Given the description of an element on the screen output the (x, y) to click on. 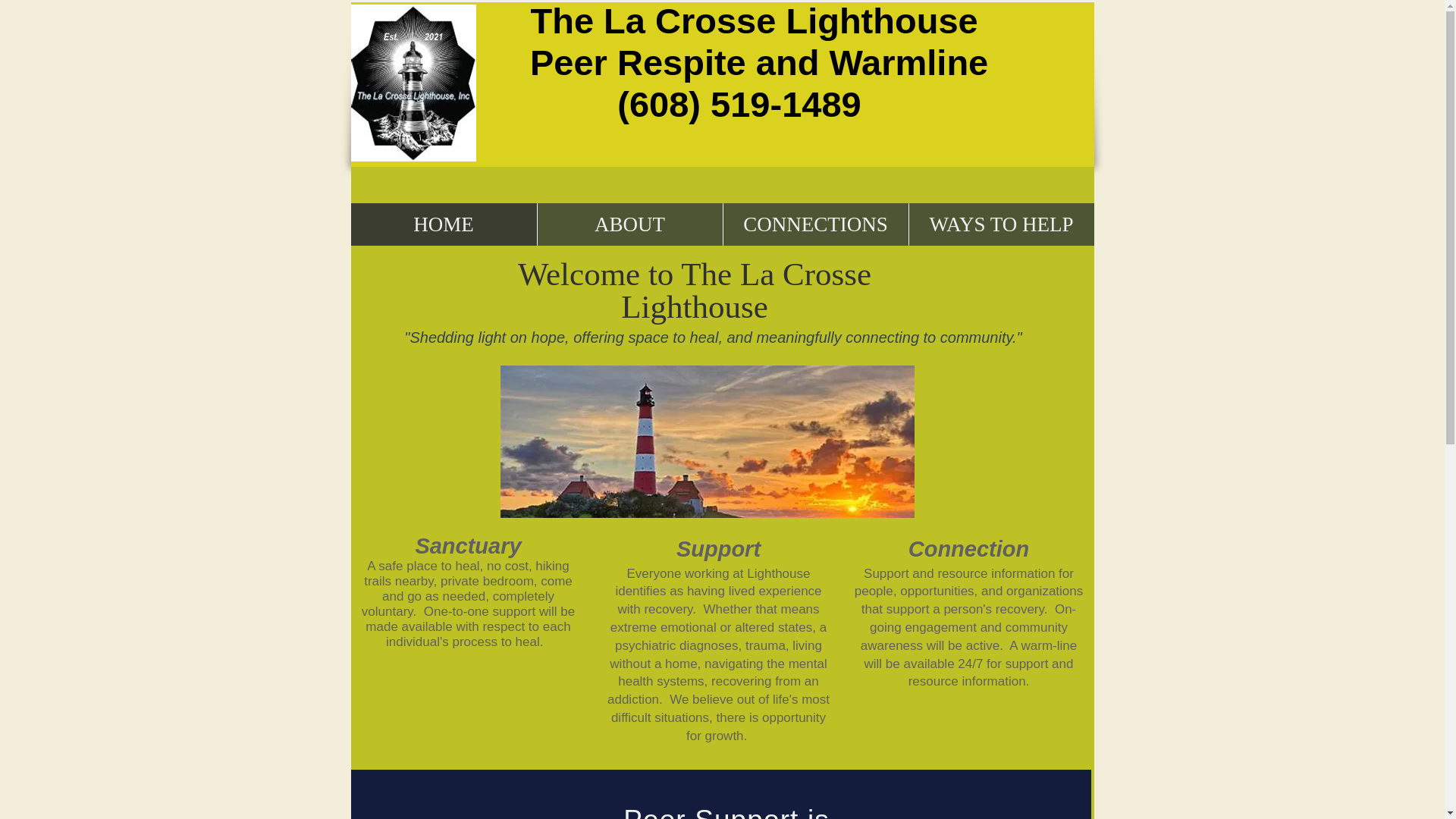
WAYS TO HELP (1001, 224)
Lighthouse PIC.jpg (707, 441)
CONNECTIONS (814, 224)
HOME (442, 224)
ABOUT (629, 224)
